Given the description of an element on the screen output the (x, y) to click on. 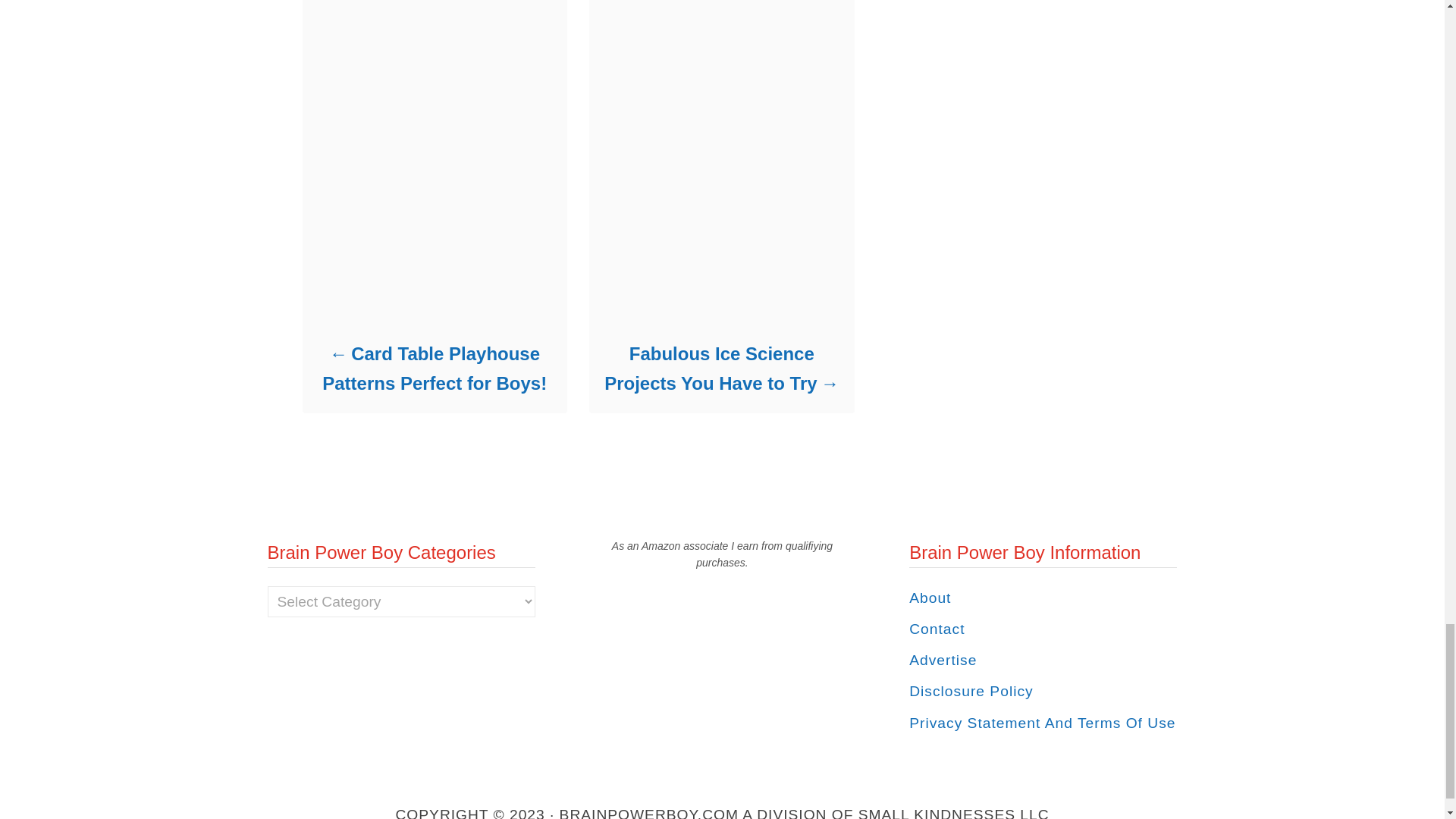
Card Table Playhouse Patterns Perfect for Boys! (434, 368)
